Given the description of an element on the screen output the (x, y) to click on. 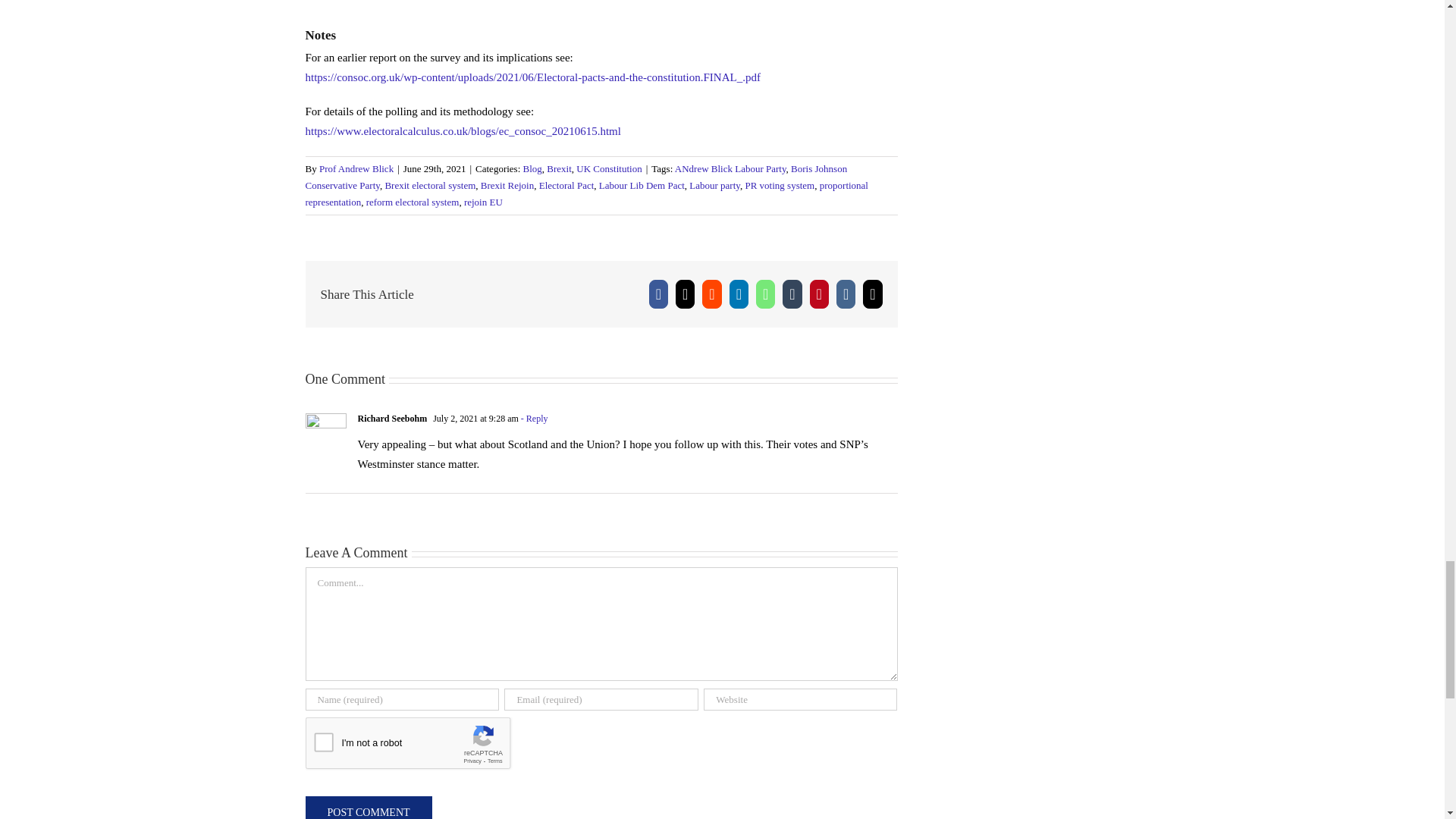
Post Comment (367, 807)
Posts by Prof Andrew Blick (355, 168)
